Given the description of an element on the screen output the (x, y) to click on. 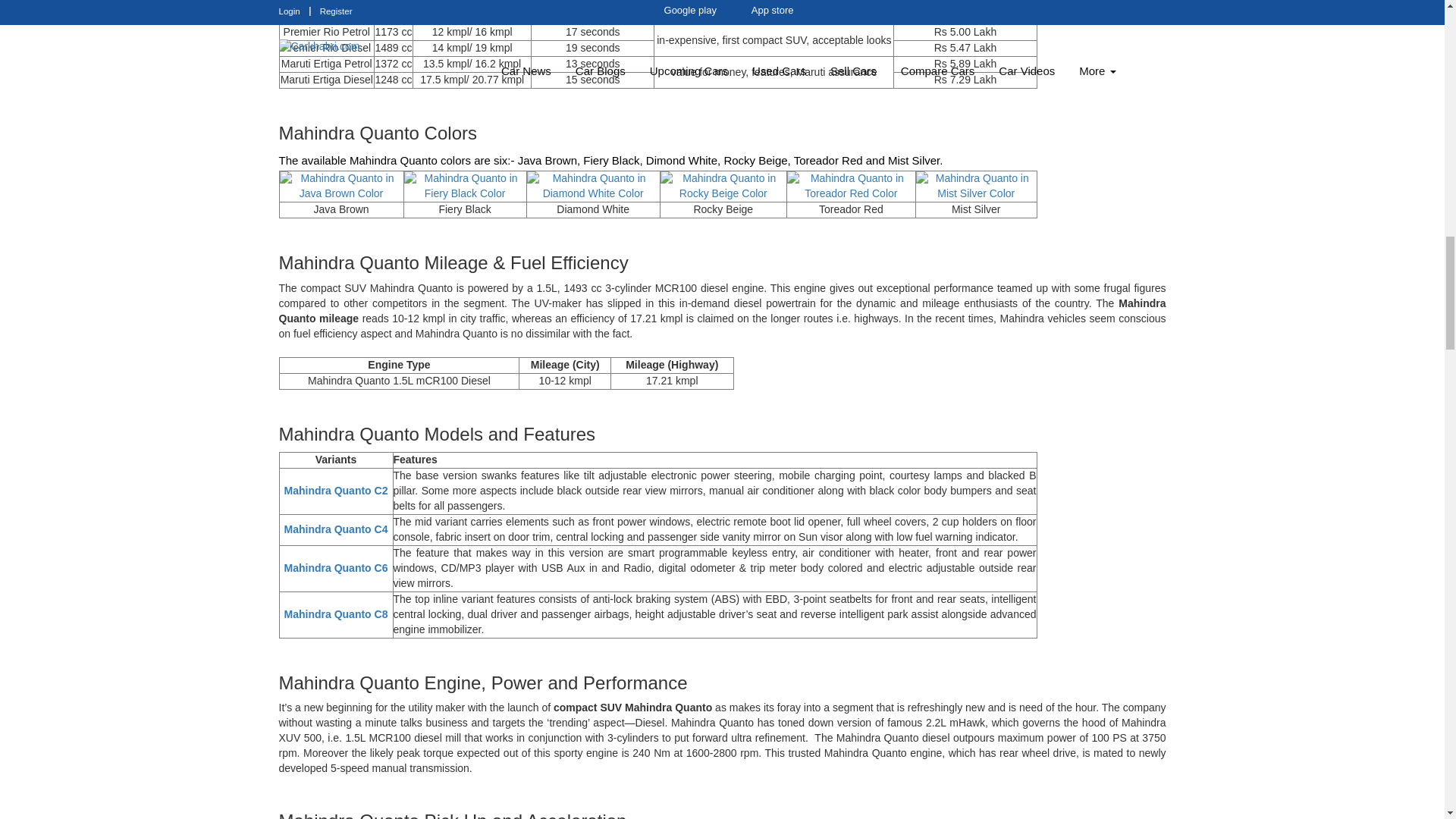
Mahindra Quanto in Diamond White Color (593, 186)
Mahindra Quanto in Toreador Red Color (851, 186)
Mahindra Quanto in Fiery Black Color (464, 186)
Mahindra Quanto in Java Brown Color (341, 186)
Mahindra Quanto in Mist Silver Color (975, 186)
Mahindra Quanto in Rocky Beige Color (723, 186)
